Given the description of an element on the screen output the (x, y) to click on. 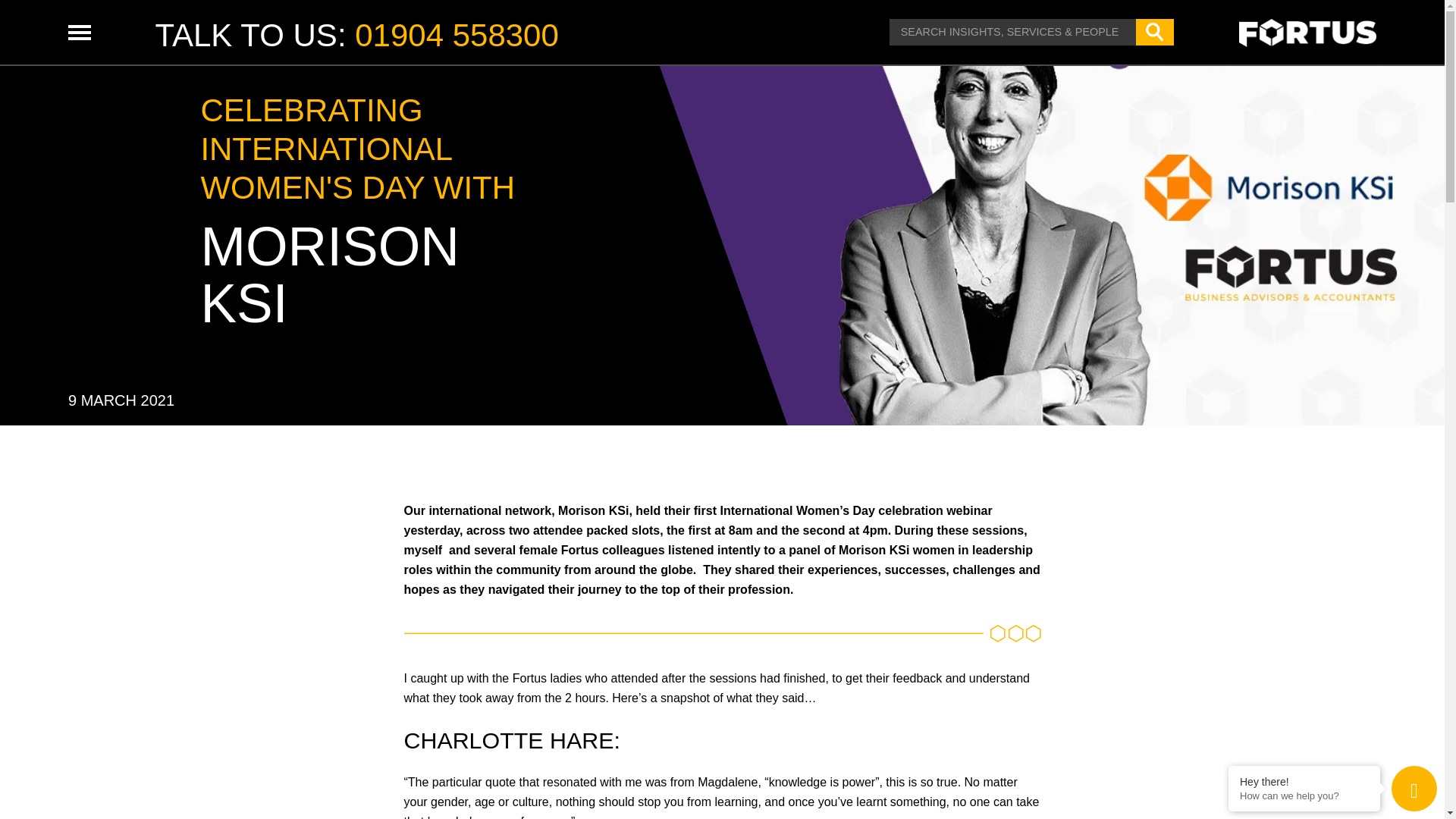
TALK TO US (245, 35)
Hey there! (1304, 781)
01904 558300 (457, 35)
How can we help you? (1304, 795)
